Given the description of an element on the screen output the (x, y) to click on. 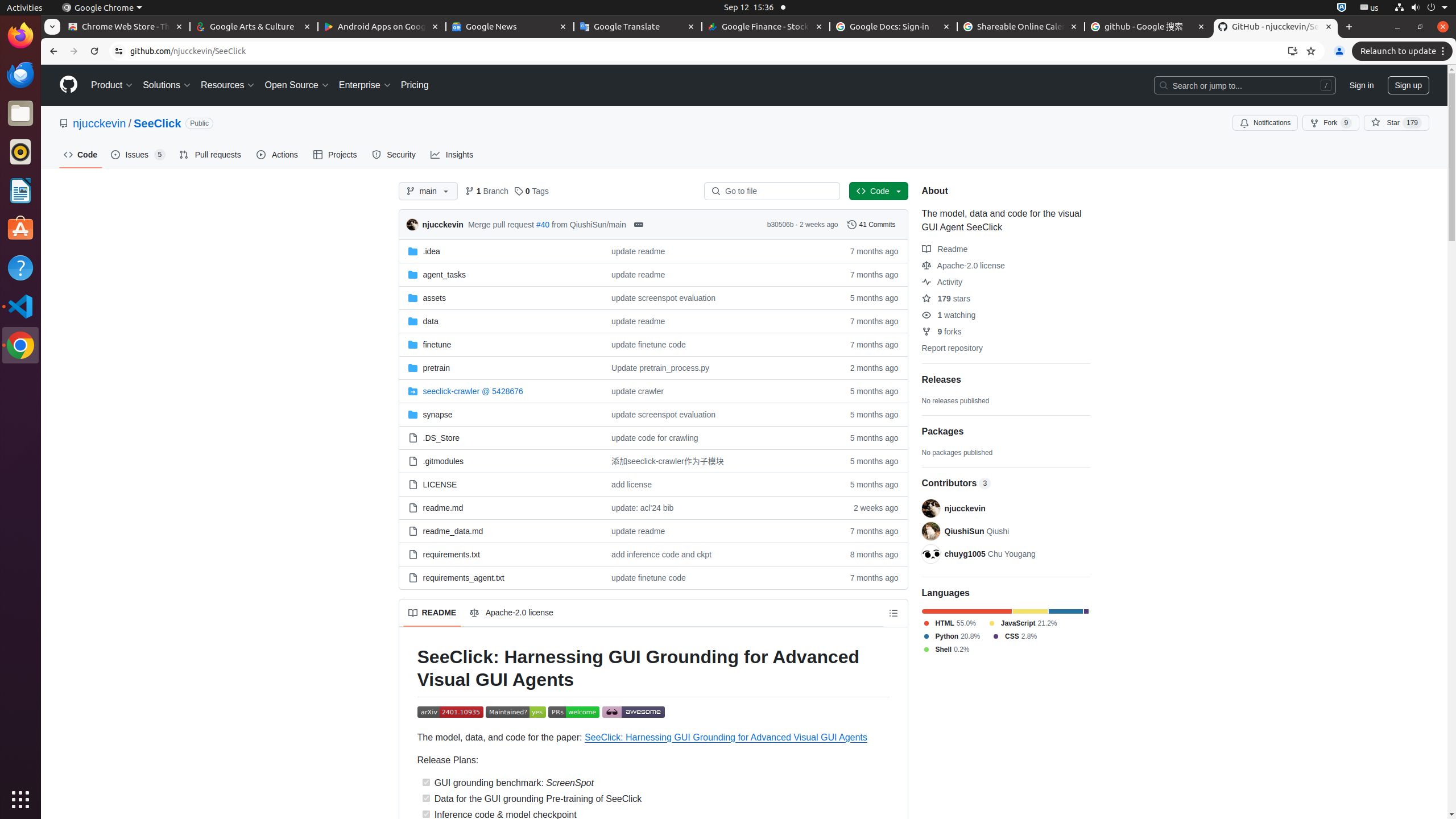
README Element type: link (432, 613)
Maintenance Element type: link (515, 712)
@chuyg1005 Element type: link (930, 553)
Firefox Web Browser Element type: push-button (20, 35)
LICENSE, (File) Element type: link (439, 484)
